Given the description of an element on the screen output the (x, y) to click on. 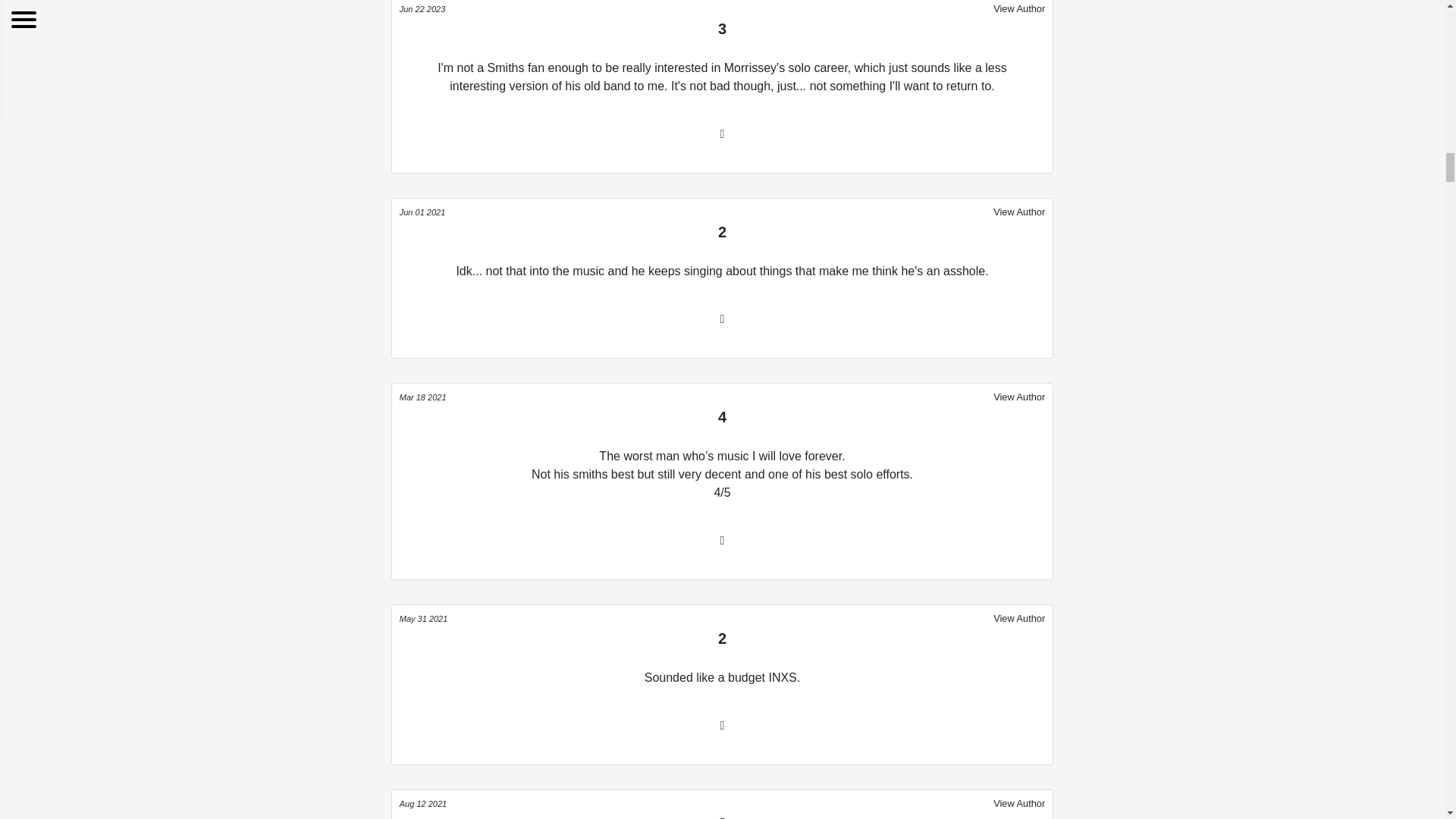
View Author (1018, 618)
View Author (1018, 396)
View Author (1018, 802)
View Author (1018, 211)
View Author (1018, 8)
